Given the description of an element on the screen output the (x, y) to click on. 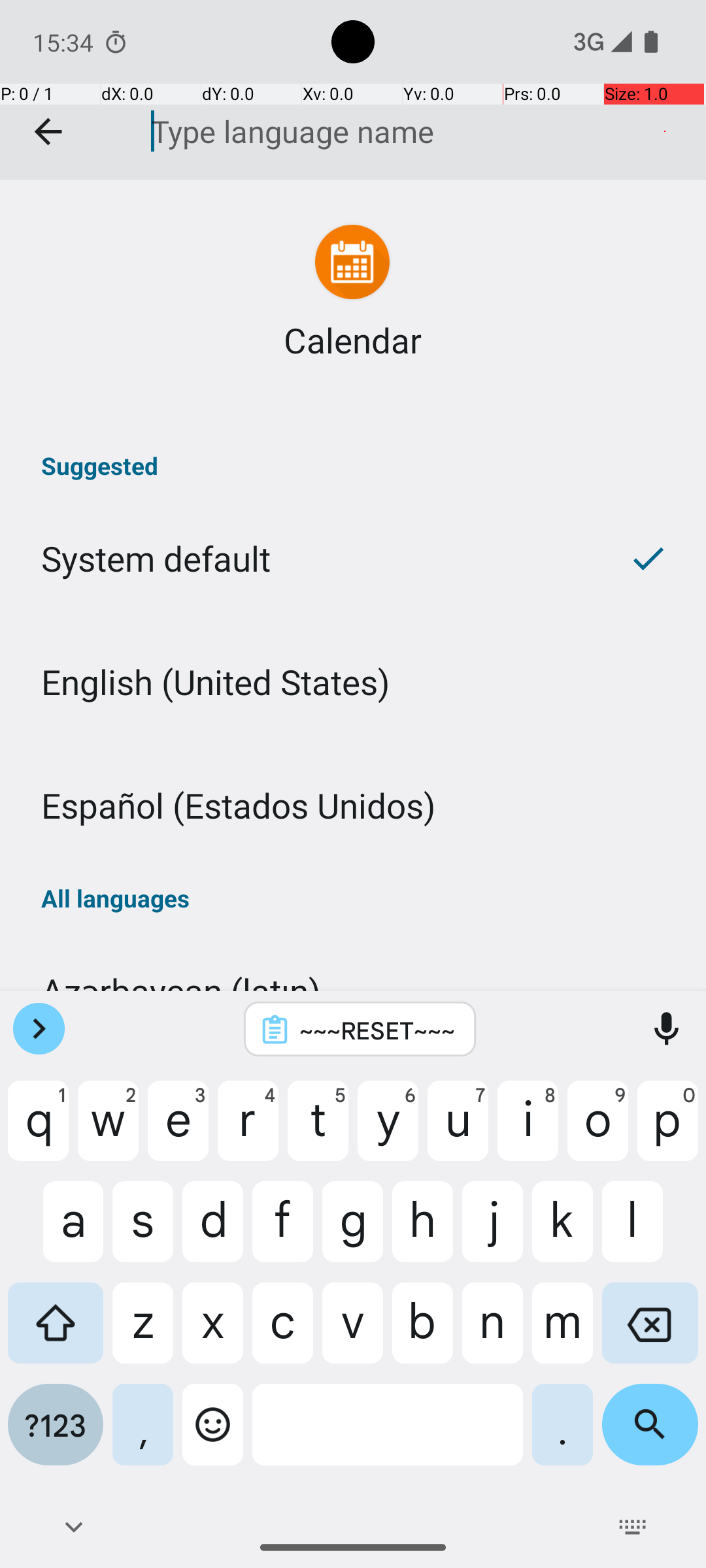
Type language name Element type: android.widget.AutoCompleteTextView (397, 130)
